Given the description of an element on the screen output the (x, y) to click on. 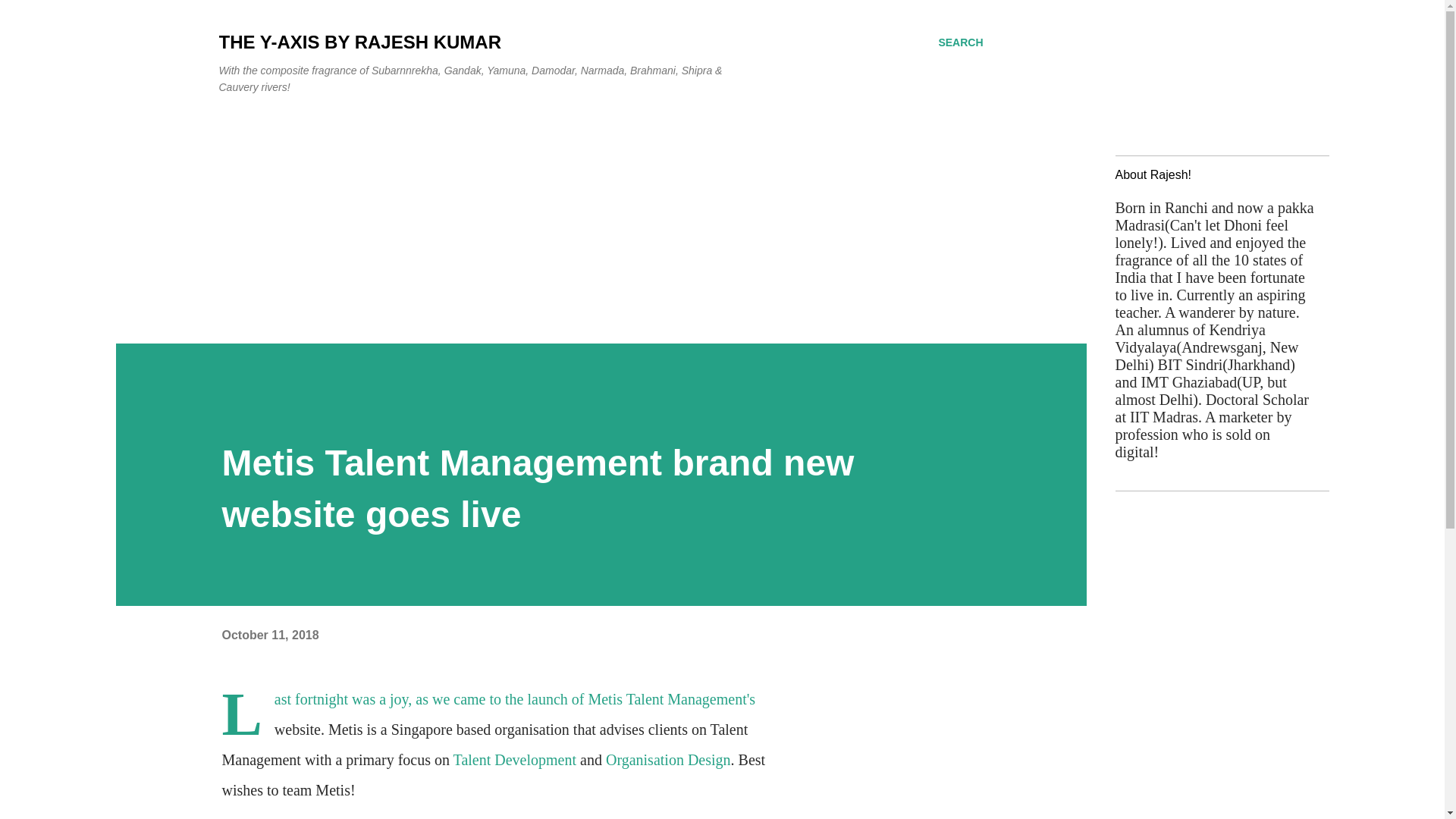
Talent Development (515, 759)
permanent link (269, 634)
SEARCH (959, 42)
THE Y-AXIS BY RAJESH KUMAR (359, 41)
Metis Talent Management's (671, 699)
October 11, 2018 (269, 634)
Organisation Design (667, 759)
